Given the description of an element on the screen output the (x, y) to click on. 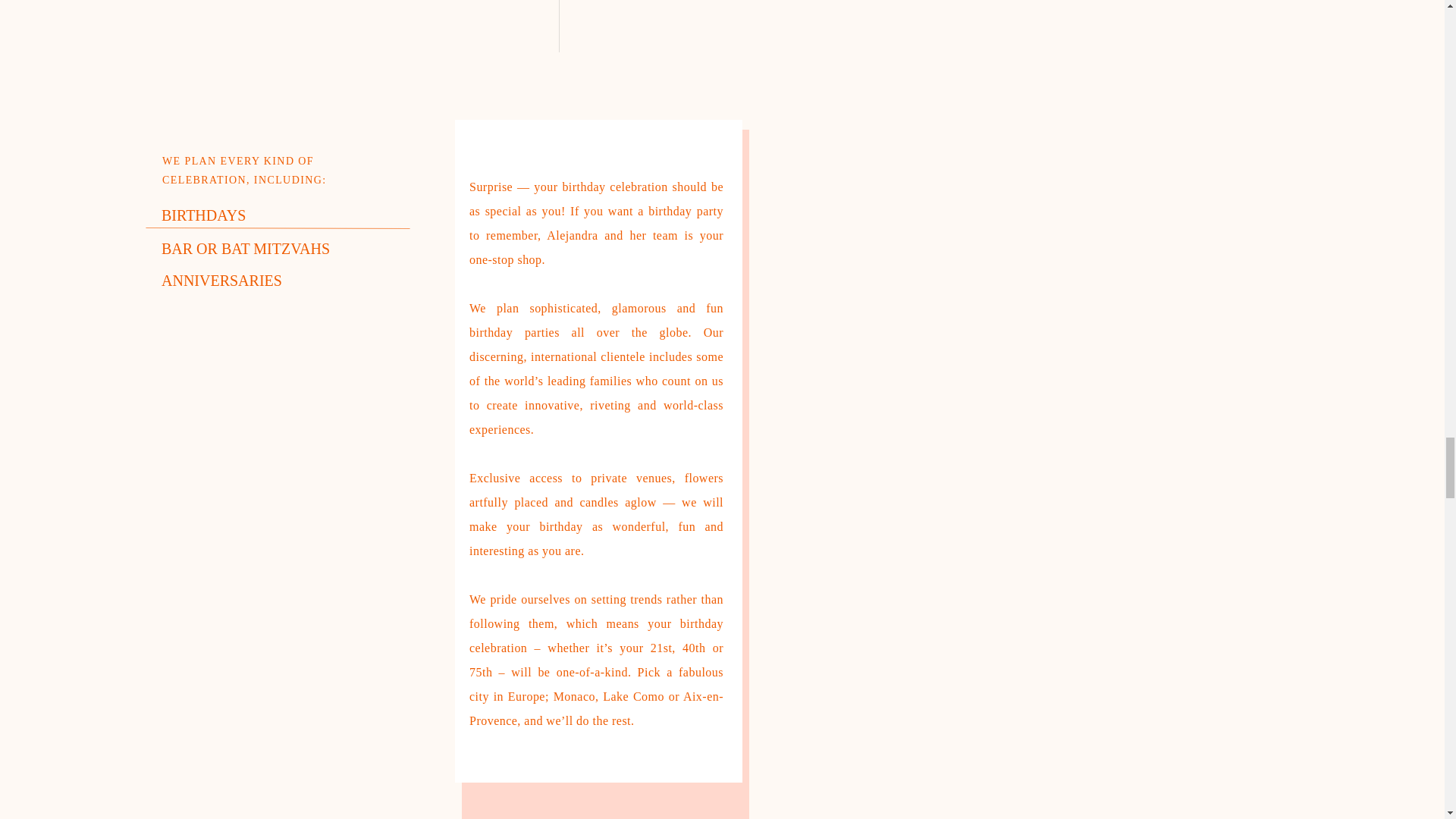
BAR OR BAT MITZVAHS (251, 247)
ANNIVERSARIES (231, 279)
BIRTHDAYS (242, 213)
